Given the description of an element on the screen output the (x, y) to click on. 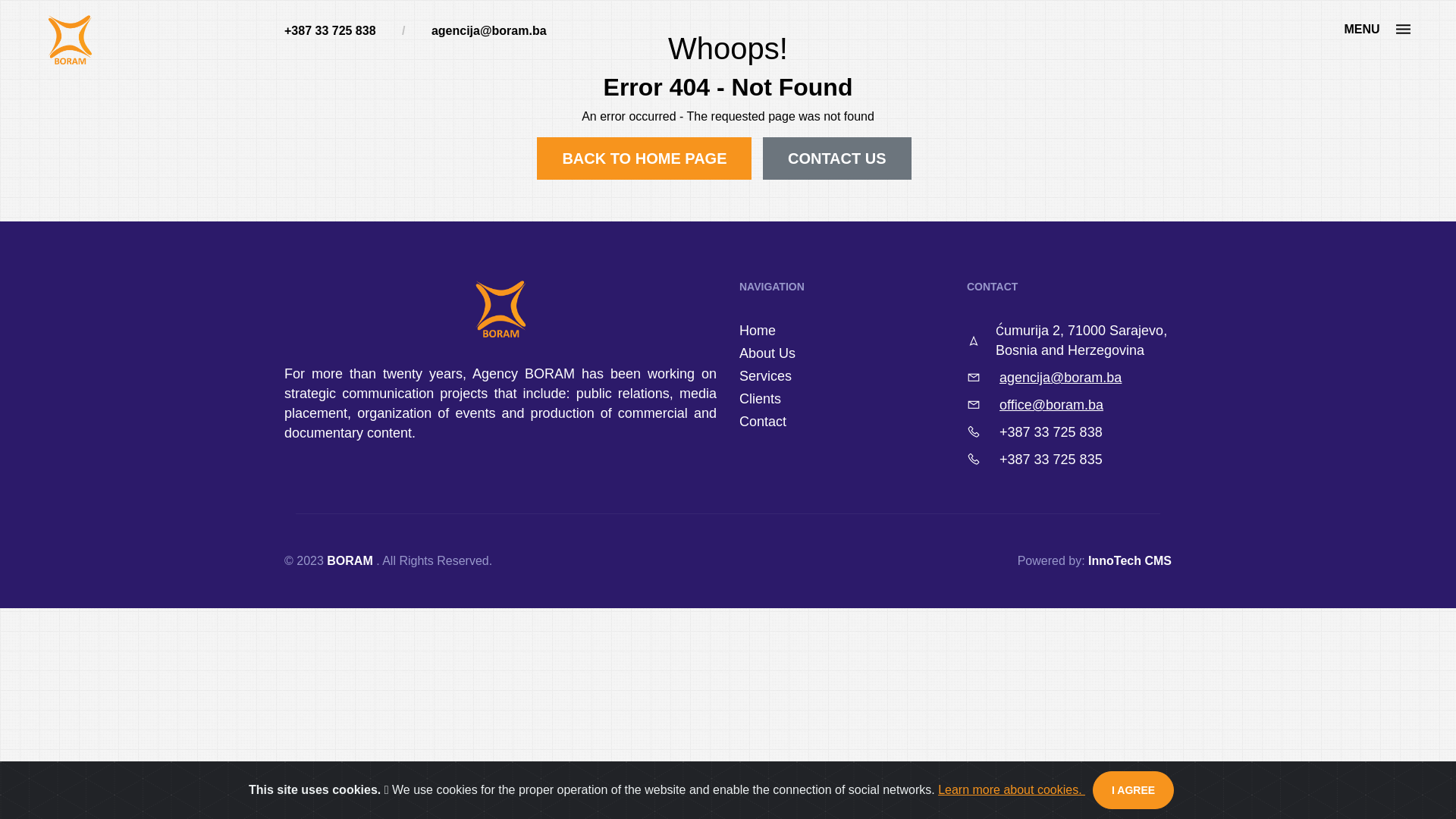
agencija@boram.ba Element type: text (1060, 377)
MENU Element type: text (1376, 29)
InnoTech CMS Element type: text (1129, 560)
+387 33 725 835 Element type: text (1050, 459)
+387 33 725 838 Element type: text (1050, 431)
Services Element type: text (765, 375)
+387 33 725 838 Element type: text (330, 30)
Contact Element type: text (762, 421)
I AGREE Element type: text (1132, 790)
CONTACT US Element type: text (836, 158)
BACK TO HOME PAGE Element type: text (643, 158)
agencija@boram.ba Element type: text (488, 30)
office@boram.ba Element type: text (1051, 404)
About Us Element type: text (767, 352)
Home Element type: text (757, 330)
Clients Element type: text (760, 398)
Learn more about cookies. Element type: text (1011, 789)
